Given the description of an element on the screen output the (x, y) to click on. 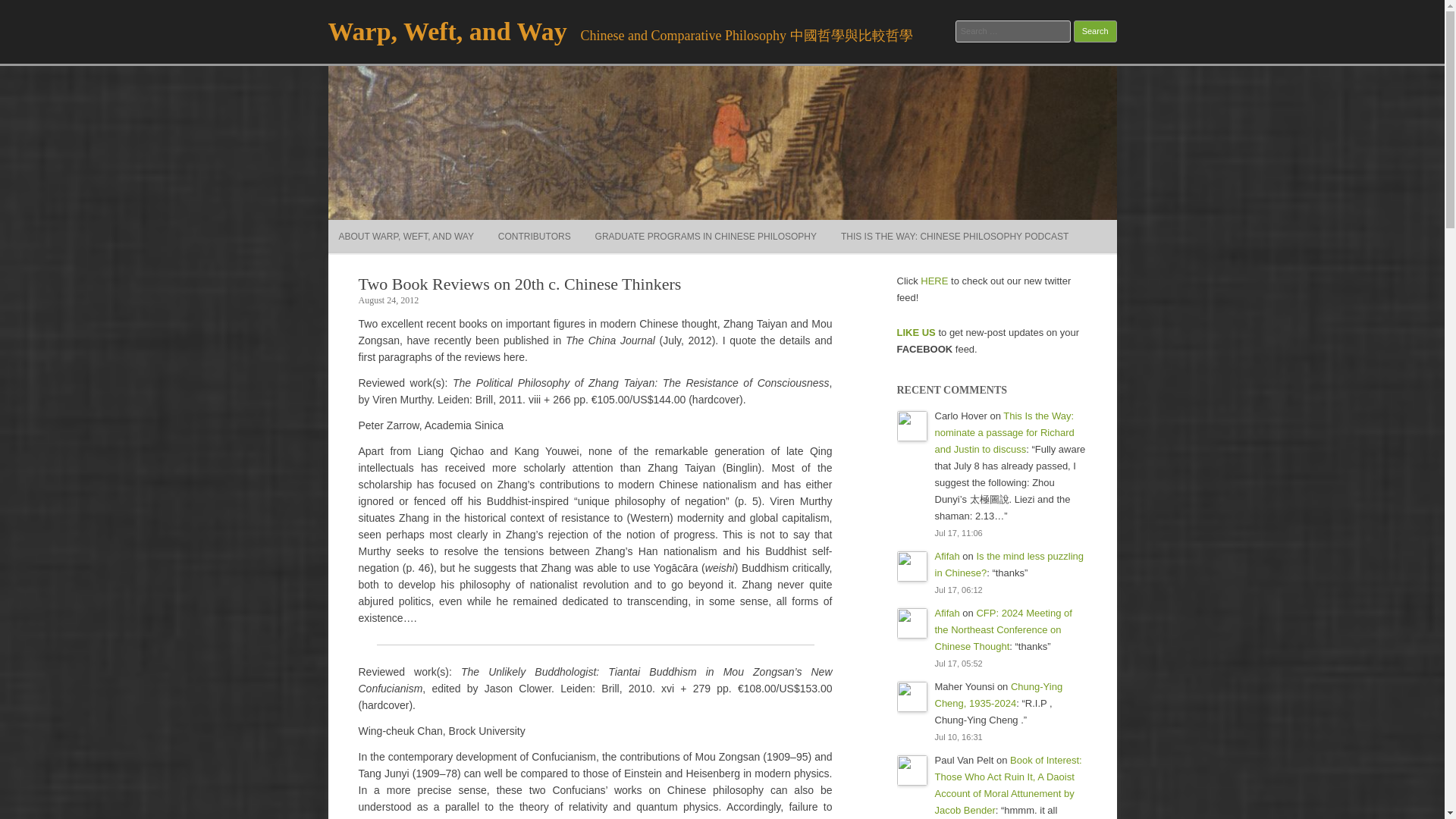
THIS IS THE WAY: CHINESE PHILOSOPHY PODCAST (954, 236)
GRADUATE PROGRAMS IN CHINESE PHILOSOPHY (705, 236)
Afifah (946, 613)
CONTRIBUTORS (533, 236)
ABOUT WARP, WEFT, AND WAY (405, 236)
Skip to content (757, 225)
Warp, Weft, and Way (446, 31)
Afifah (946, 555)
Warp, Weft, and Way (446, 31)
Search (1095, 31)
August 24, 2012 (388, 299)
Chung-Ying Cheng, 1935-2024 (998, 694)
Is the mind less puzzling in Chinese? (1008, 564)
Skip to content (757, 225)
